Given the description of an element on the screen output the (x, y) to click on. 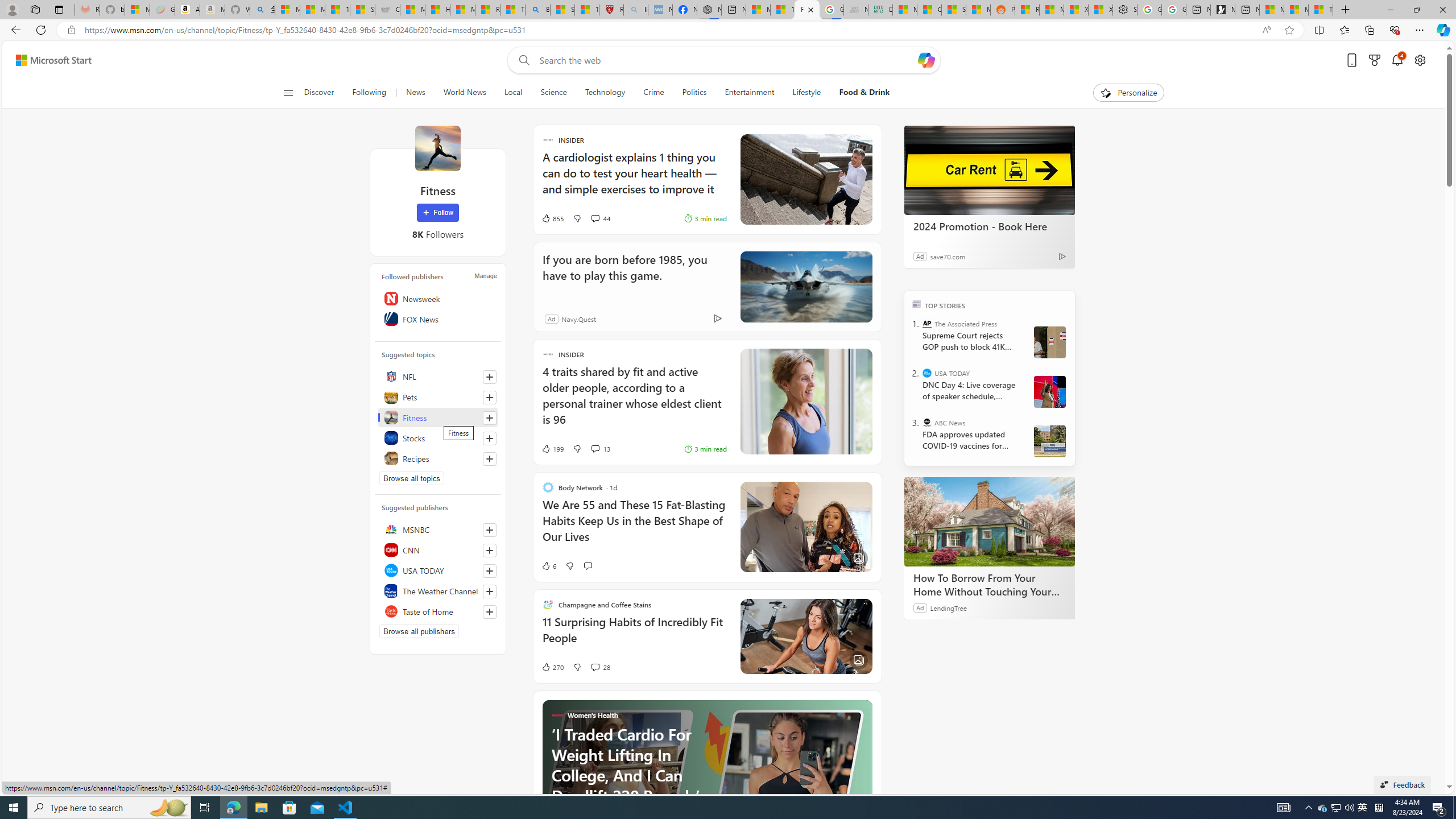
Nordace - Nordace Siena Is Not An Ordinary Backpack (708, 9)
Technology (605, 92)
R******* | Trusted Community Engagement and Contributions (1026, 9)
Crime (653, 92)
Follow this source (489, 611)
